Given the description of an element on the screen output the (x, y) to click on. 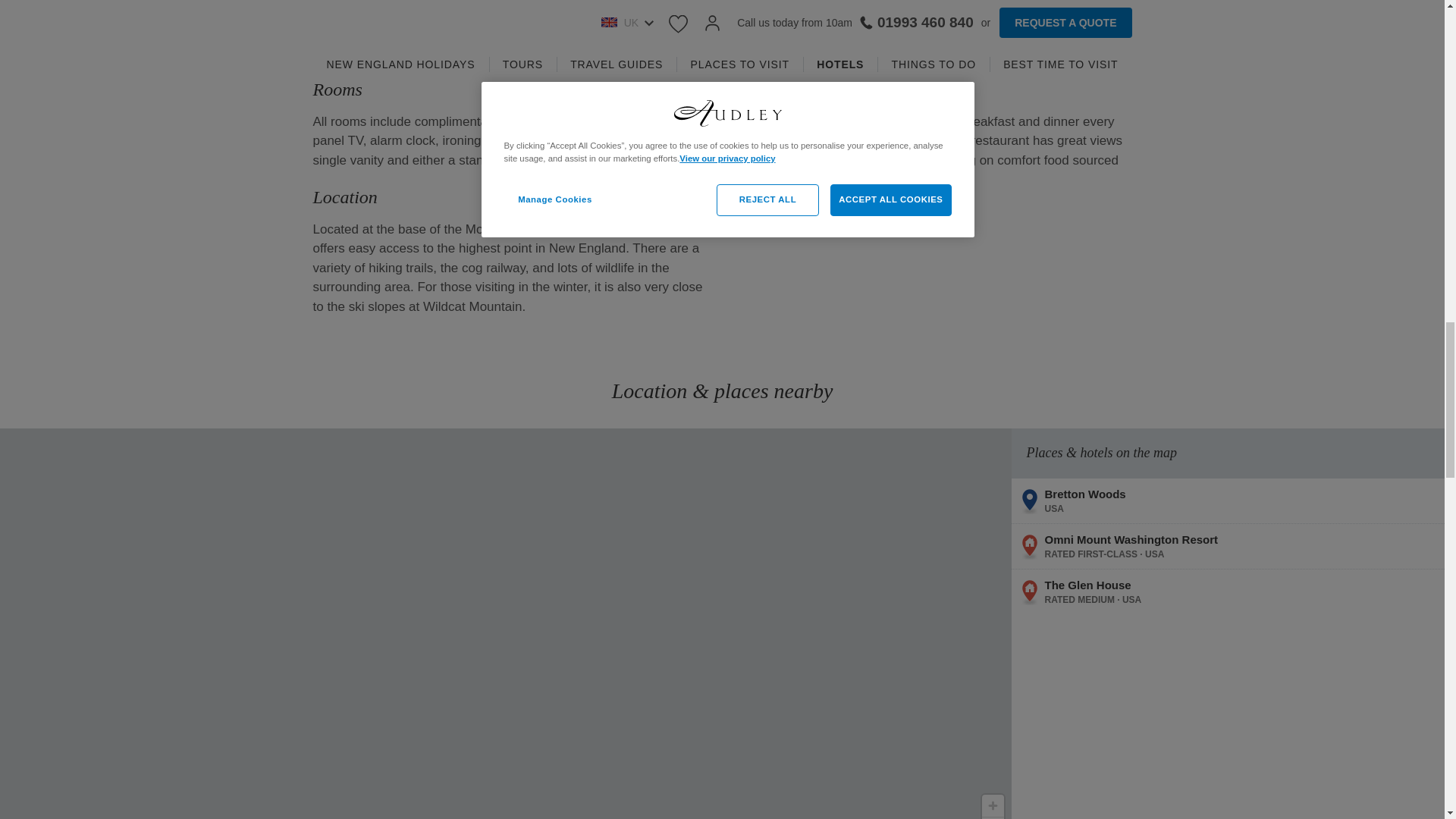
Zoom in (992, 805)
Zoom out (992, 817)
